Given the description of an element on the screen output the (x, y) to click on. 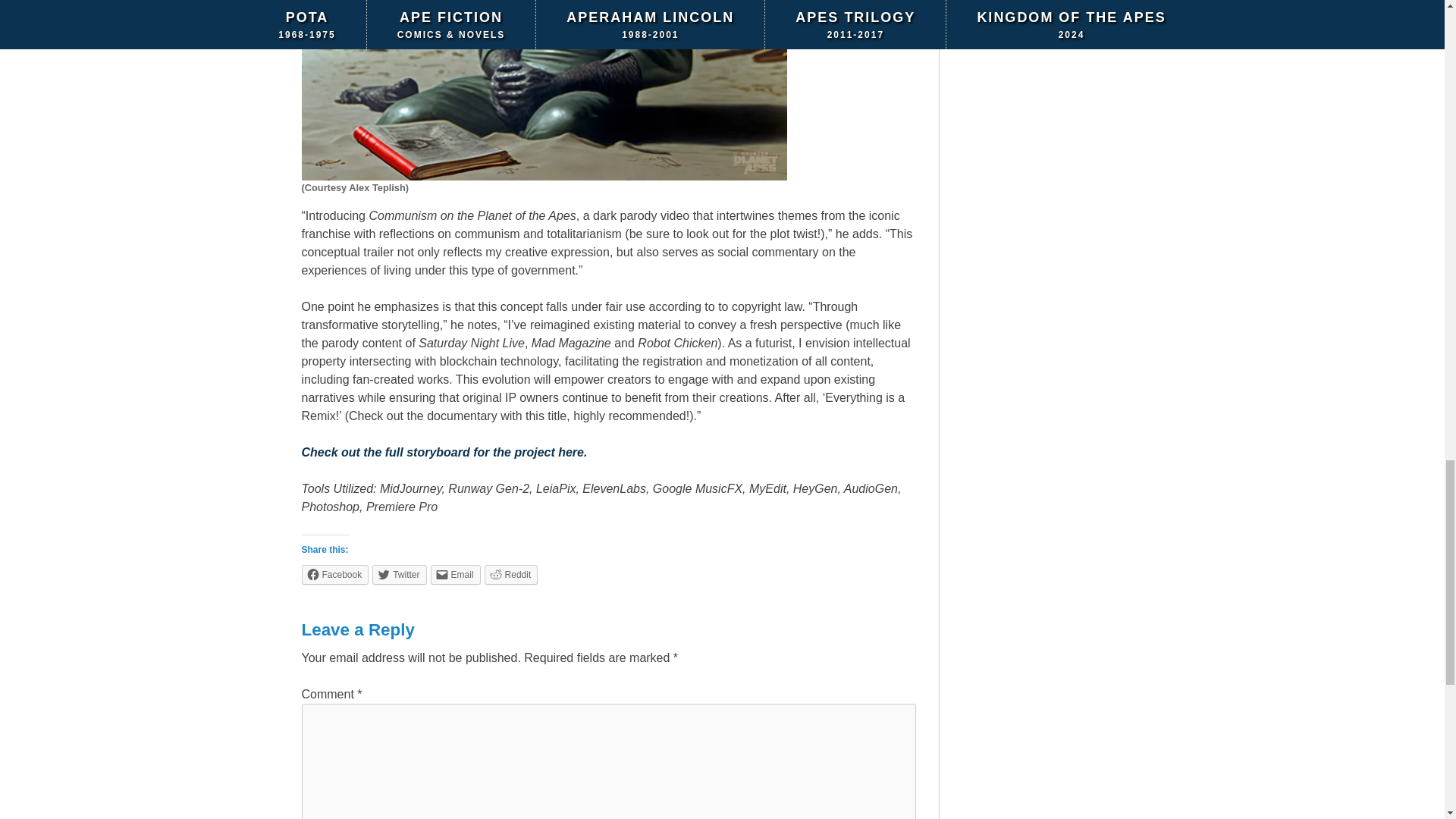
Click to share on Twitter (399, 573)
Reddit (511, 573)
Click to share on Reddit (511, 573)
Email (455, 573)
Check out the full storyboard for the project here. (444, 451)
Click to email a link to a friend (455, 573)
Twitter (399, 573)
Facebook (335, 573)
Click to share on Facebook (335, 573)
